Given the description of an element on the screen output the (x, y) to click on. 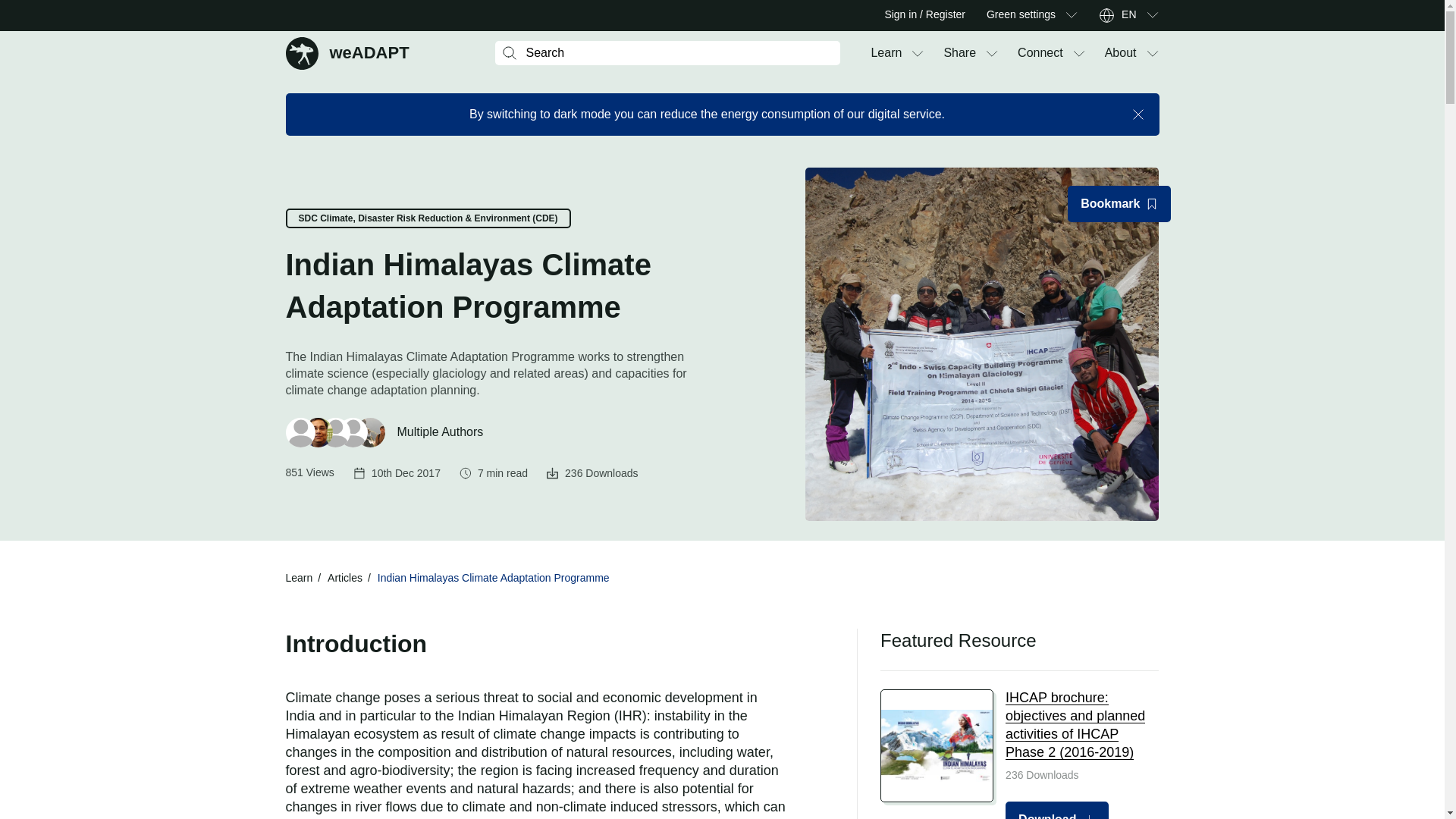
Green settings (1021, 14)
About (1121, 53)
EN (1128, 14)
Share (959, 53)
Learn (347, 52)
Translate Submenu (885, 53)
Submenu (1151, 14)
Connect (1071, 14)
